Given the description of an element on the screen output the (x, y) to click on. 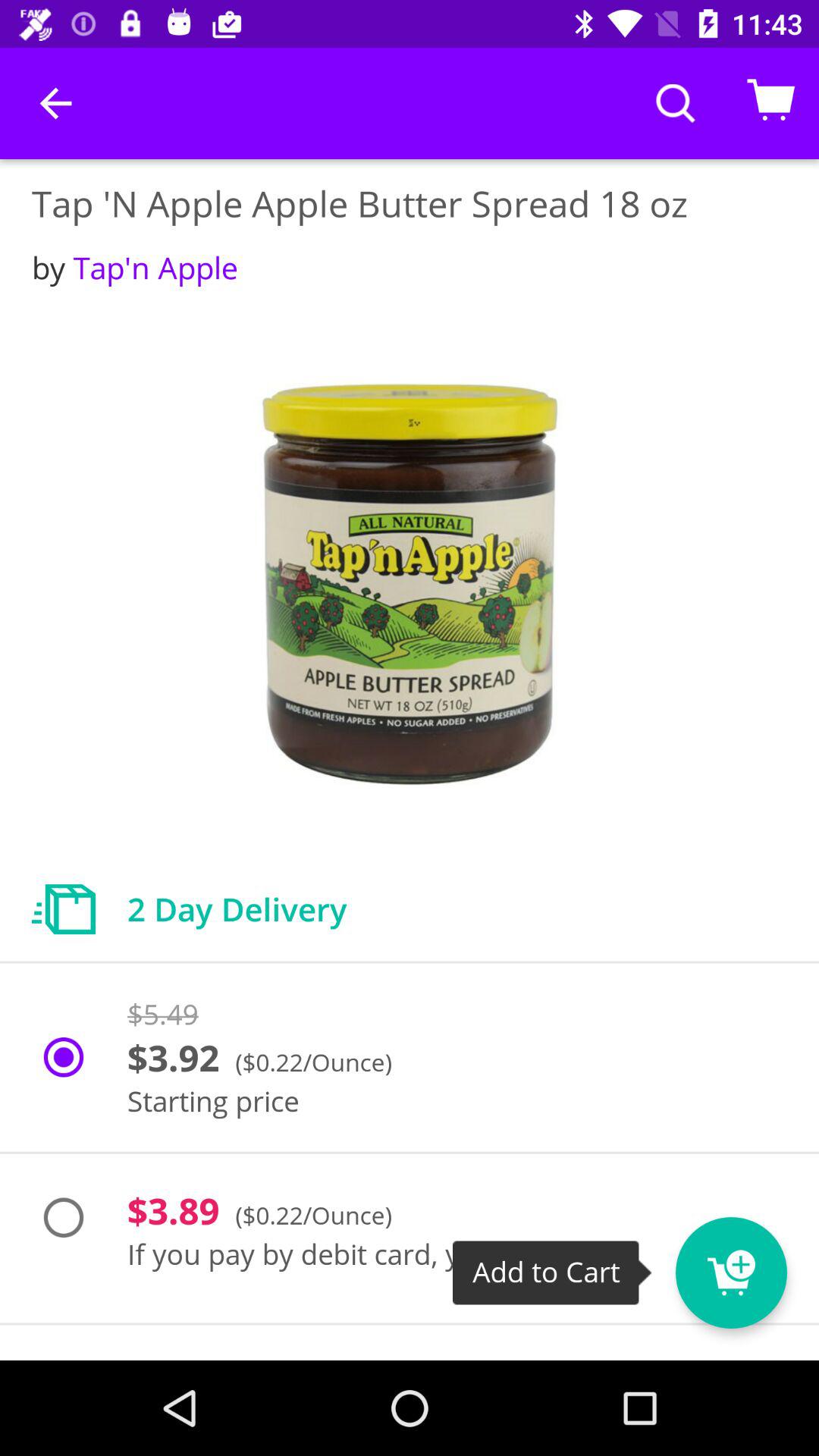
turn on item to the right of the add to cart item (731, 1272)
